Given the description of an element on the screen output the (x, y) to click on. 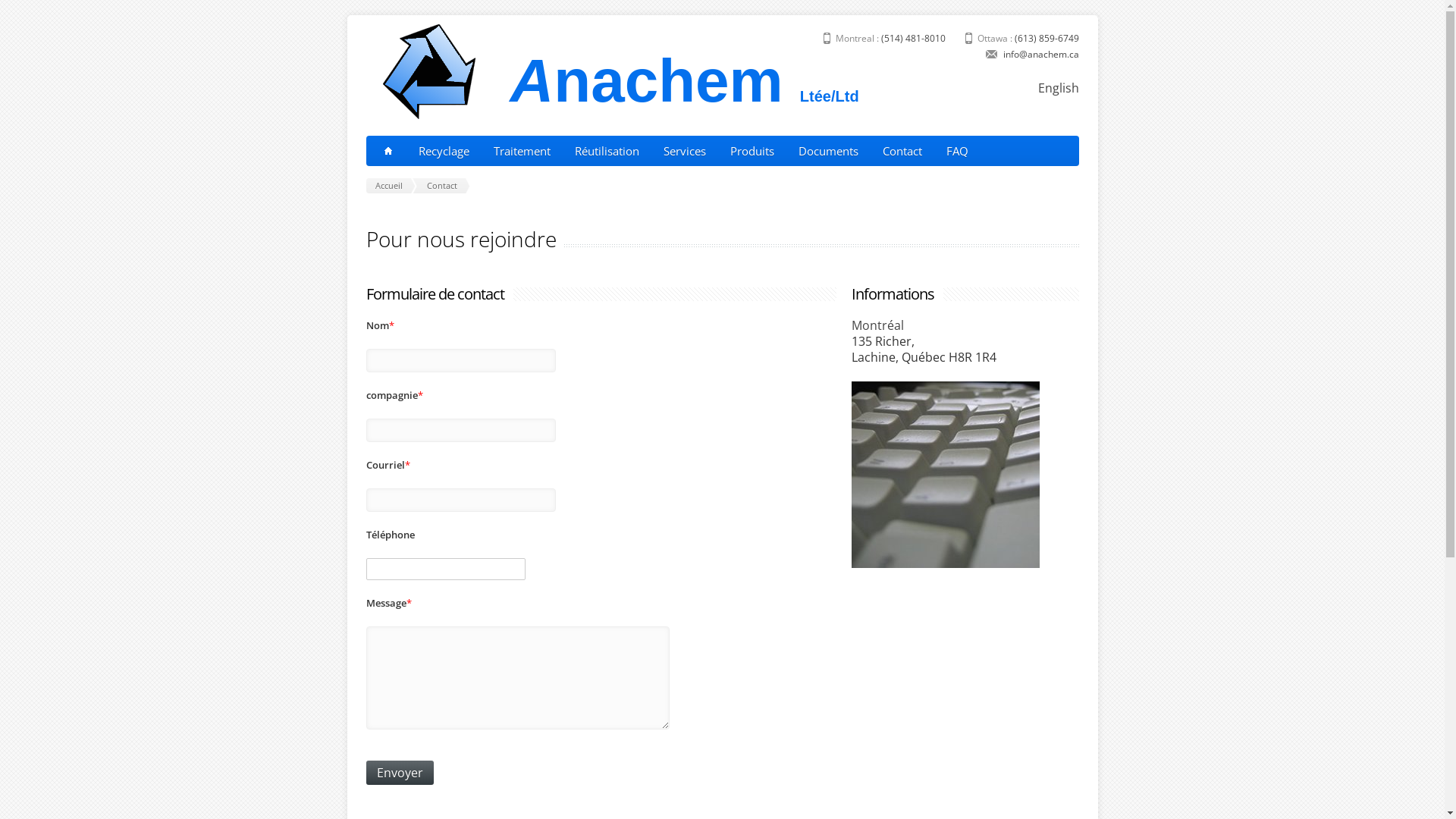
Recyclage Element type: text (443, 150)
(514) 481-8010 Element type: text (913, 37)
Documents Element type: text (827, 150)
Services Element type: text (683, 150)
accueil Element type: hover (388, 150)
info@anachem.ca Element type: text (1040, 53)
Produits Element type: text (751, 150)
Envoyer Element type: text (399, 772)
Traitement Element type: text (520, 150)
Contact Element type: text (444, 185)
(613) 859-6749 Element type: text (1046, 37)
FAQ Element type: text (957, 150)
Contact Element type: text (902, 150)
English Element type: text (1057, 87)
Accueil Element type: text (391, 185)
